Given the description of an element on the screen output the (x, y) to click on. 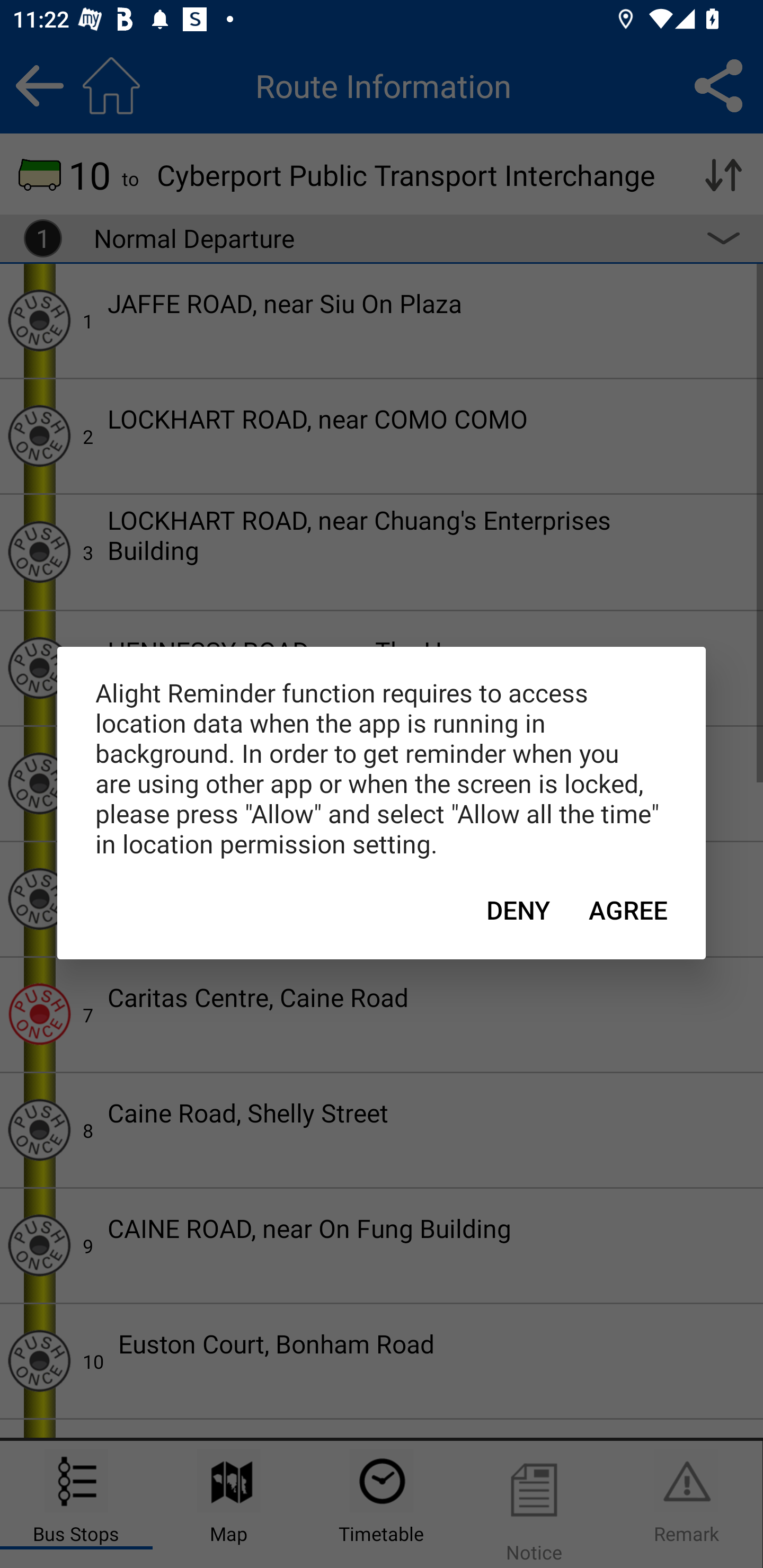
DENY (517, 910)
AGREE (627, 910)
